Given the description of an element on the screen output the (x, y) to click on. 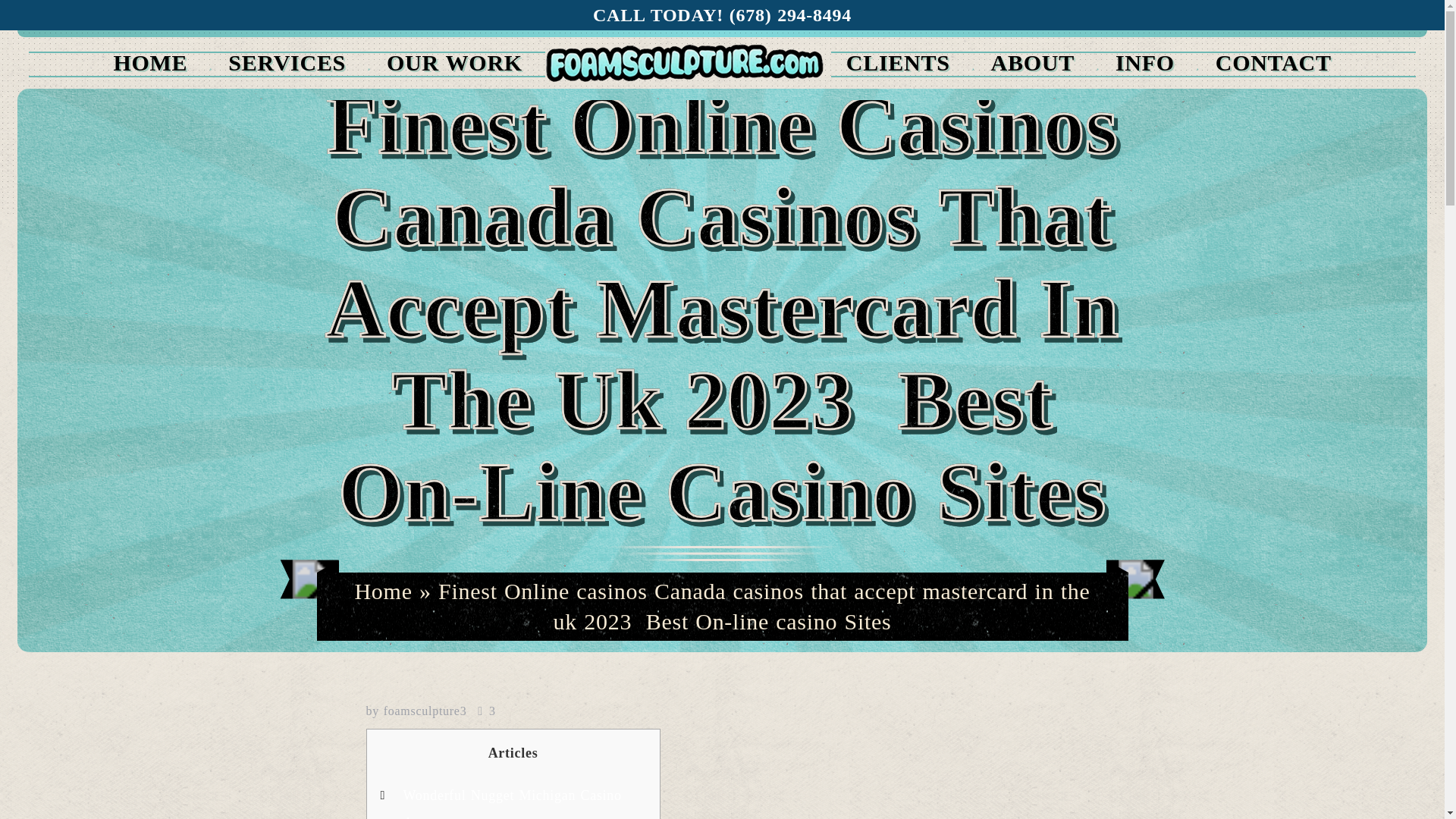
Posts by foamsculpture3 (425, 711)
Like (486, 711)
